Given the description of an element on the screen output the (x, y) to click on. 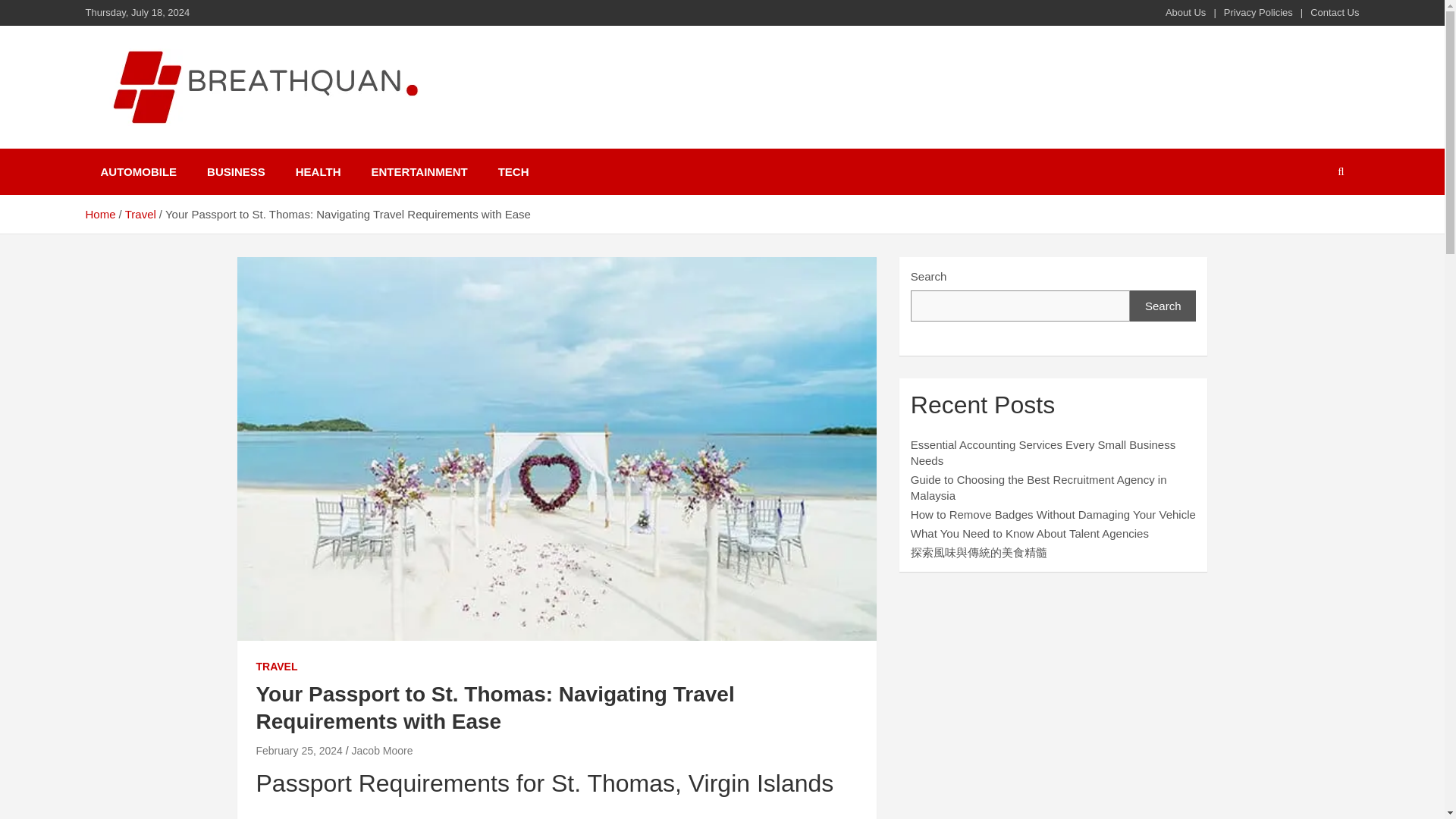
ENTERTAINMENT (418, 171)
Breathquant (173, 145)
Guide to Choosing the Best Recruitment Agency in Malaysia (1039, 487)
TRAVEL (277, 667)
HEALTH (318, 171)
How to Remove Badges Without Damaging Your Vehicle (1053, 513)
Travel (140, 214)
Privacy Policies (1258, 12)
February 25, 2024 (299, 750)
What You Need to Know About Talent Agencies (1029, 533)
AUTOMOBILE (138, 171)
BUSINESS (236, 171)
Contact Us (1334, 12)
Jacob Moore (382, 750)
